Given the description of an element on the screen output the (x, y) to click on. 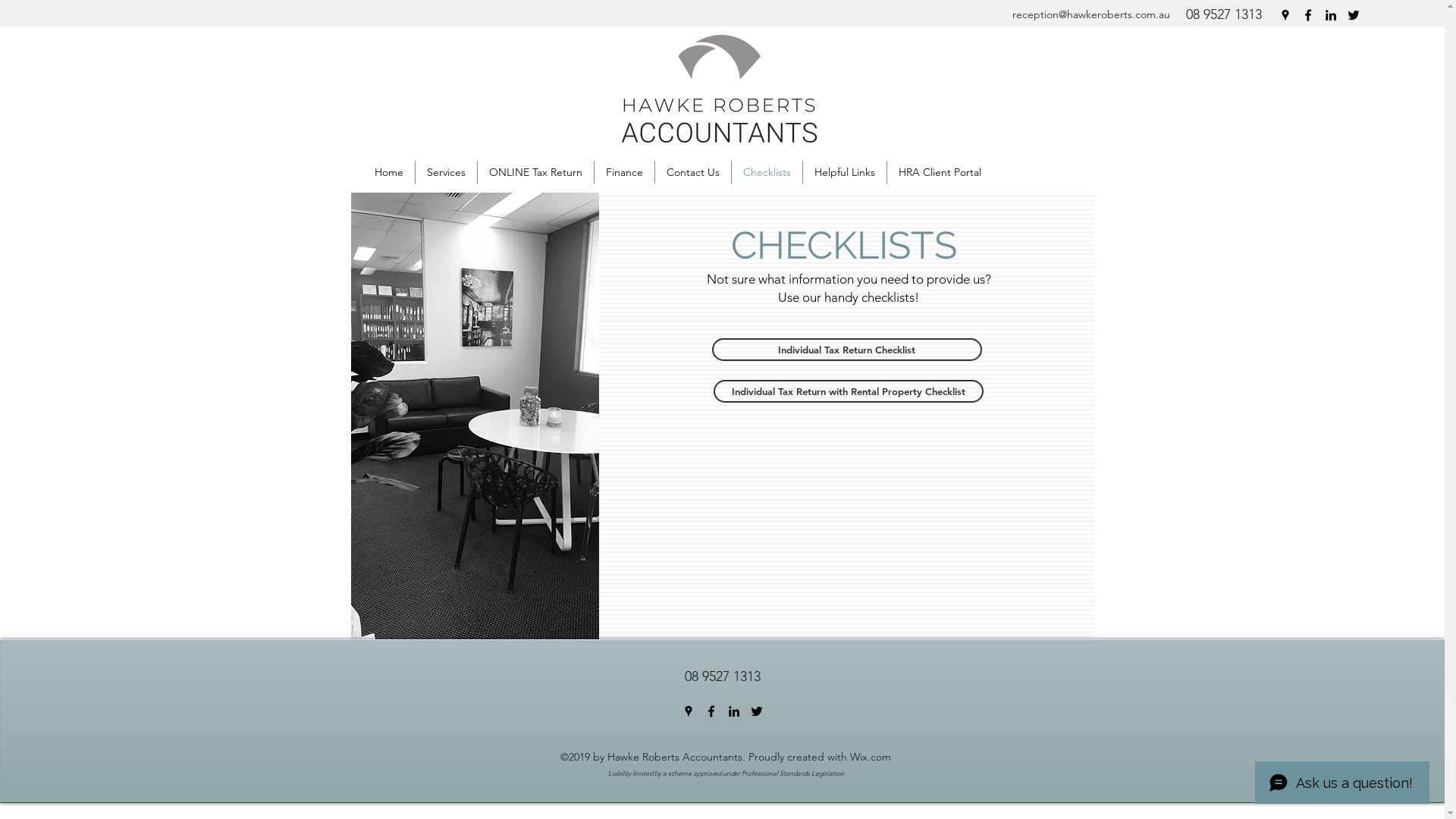
Helpful Links Element type: text (844, 171)
Finance Element type: text (624, 171)
Checklists Element type: text (766, 171)
ONLINE Tax Return Element type: text (535, 171)
Home Element type: text (388, 171)
Individual Tax Return Checklist Element type: text (846, 349)
Contact Us Element type: text (693, 171)
reception@hawkeroberts.com.au Element type: text (1090, 14)
Individual Tax Return with Rental Property Checklist Element type: text (847, 390)
HRA Client Portal Element type: text (939, 171)
Services Element type: text (445, 171)
